Given the description of an element on the screen output the (x, y) to click on. 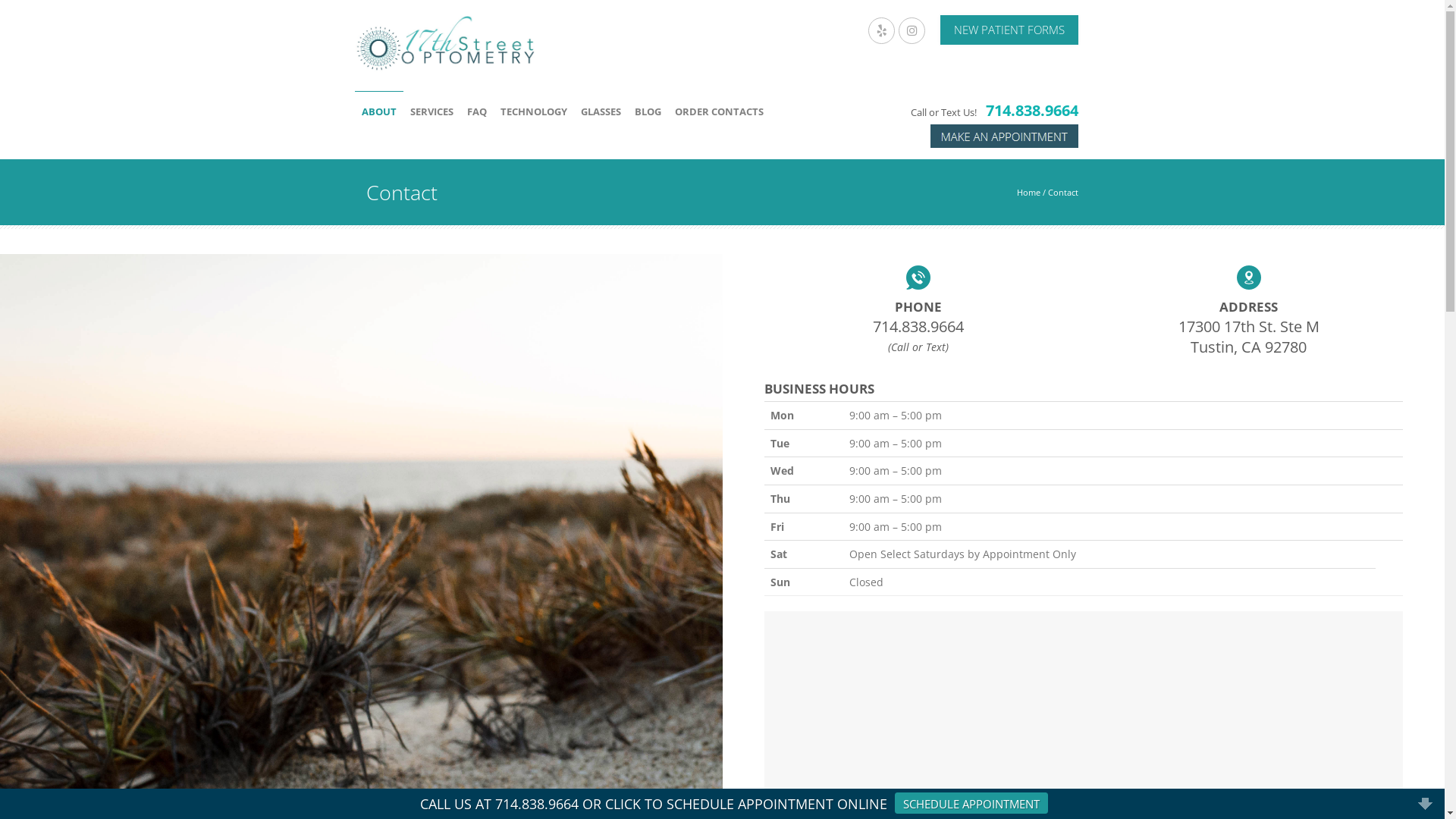
BLOG Element type: text (647, 110)
ORDER CONTACTS Element type: text (718, 110)
FAQ Element type: text (475, 110)
SCHEDULE APPOINTMENT Element type: text (971, 803)
GLASSES Element type: text (600, 110)
TECHNOLOGY Element type: text (532, 110)
SERVICES Element type: text (431, 110)
ABOUT Element type: text (378, 111)
NEW PATIENT FORMS Element type: text (1009, 29)
Home Element type: text (1028, 191)
